Given the description of an element on the screen output the (x, y) to click on. 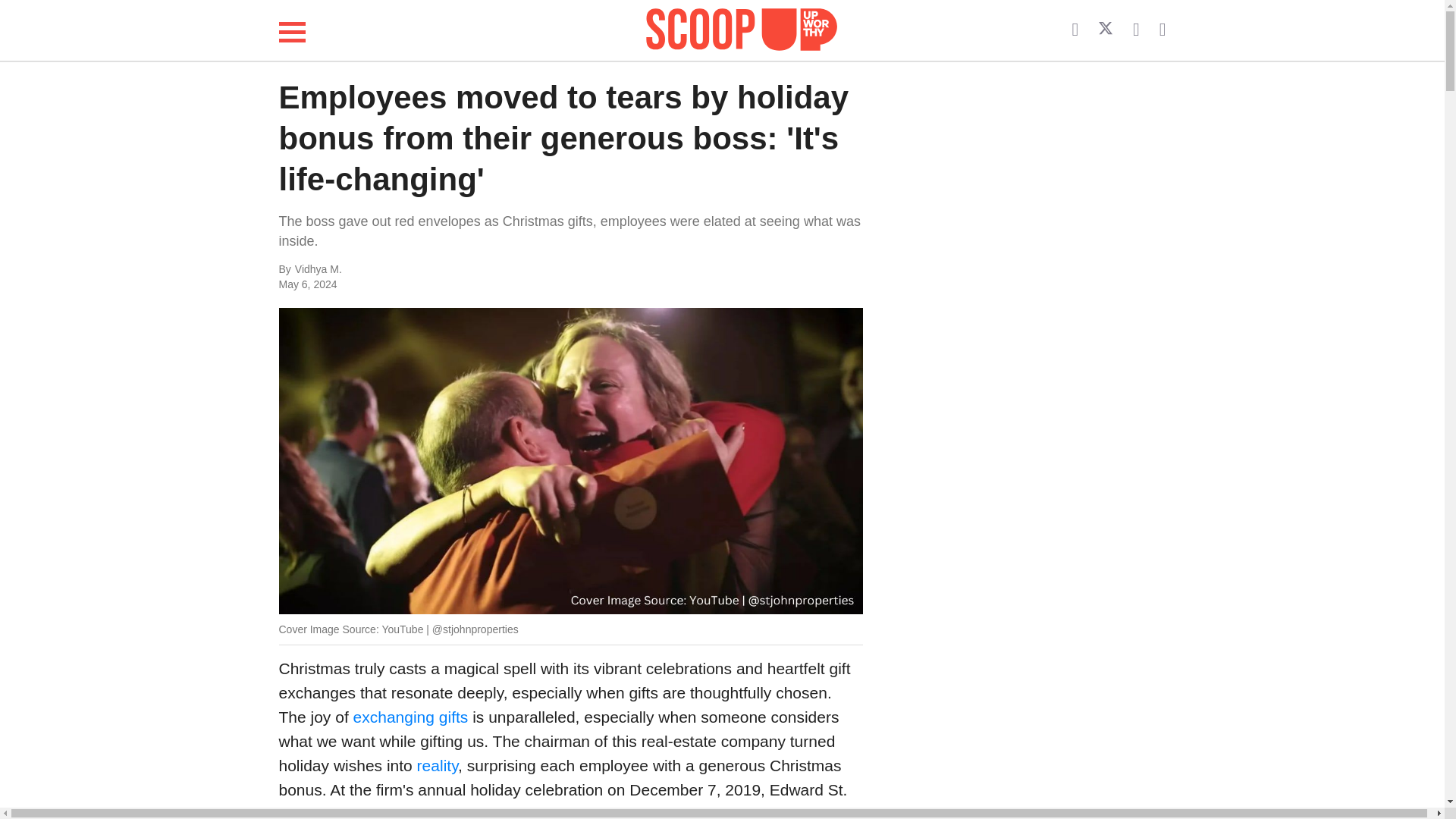
reality (437, 764)
Vidhya M. (445, 269)
exchanging gifts (410, 716)
SCOOP UPWORTHY (741, 29)
SCOOP UPWORTHY (741, 27)
